Given the description of an element on the screen output the (x, y) to click on. 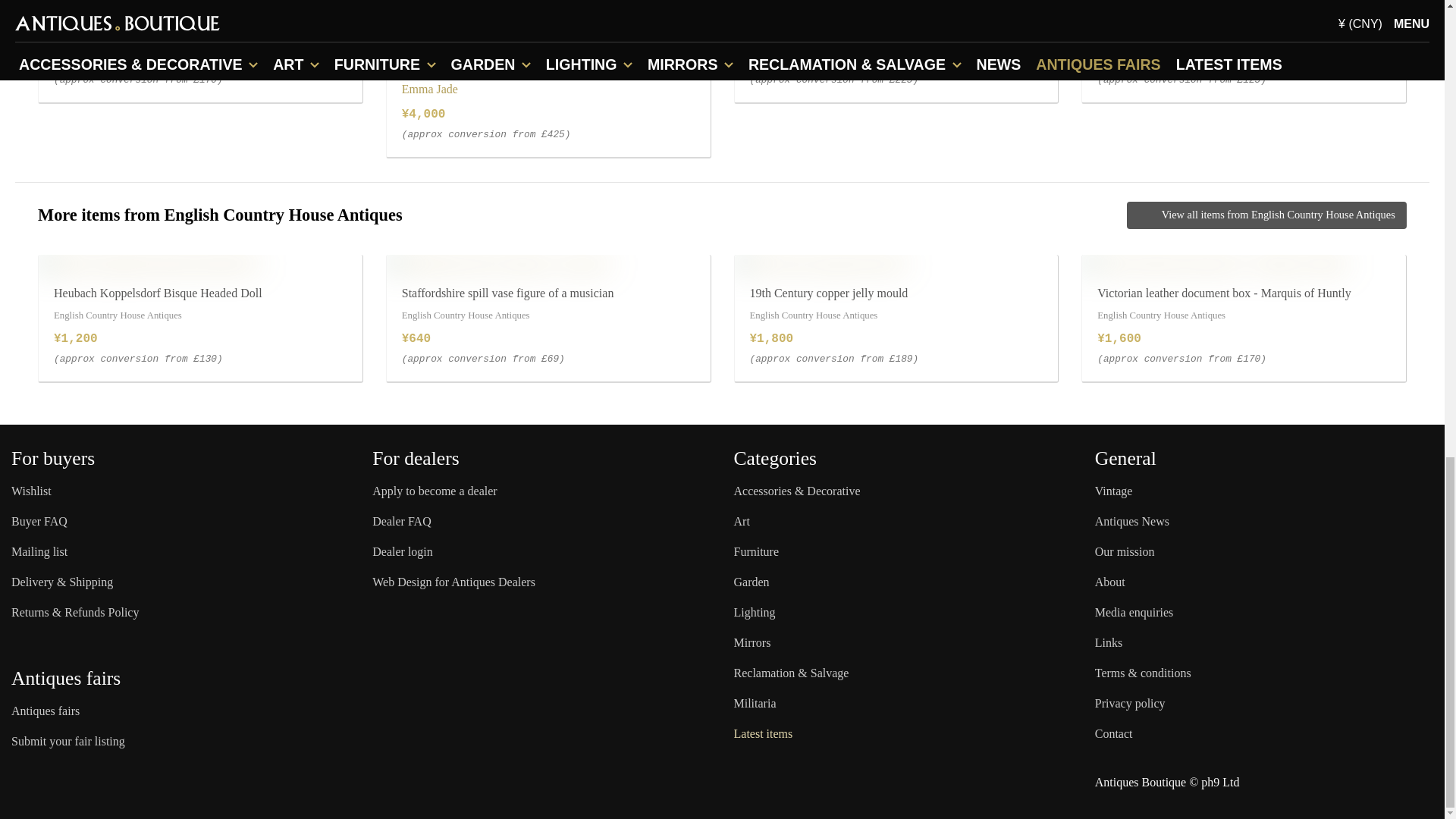
Unusual Antique Art And Crafts Quality Copper Hanging Kettle (548, 4)
Heubach Koppelsdorf Bisque Headed Doll (149, 263)
Victorian leather document box - Marquis of Huntly (1214, 263)
19th Century copper jelly mould (818, 263)
Staffordshire spill vase figure of a musician (499, 263)
